Given the description of an element on the screen output the (x, y) to click on. 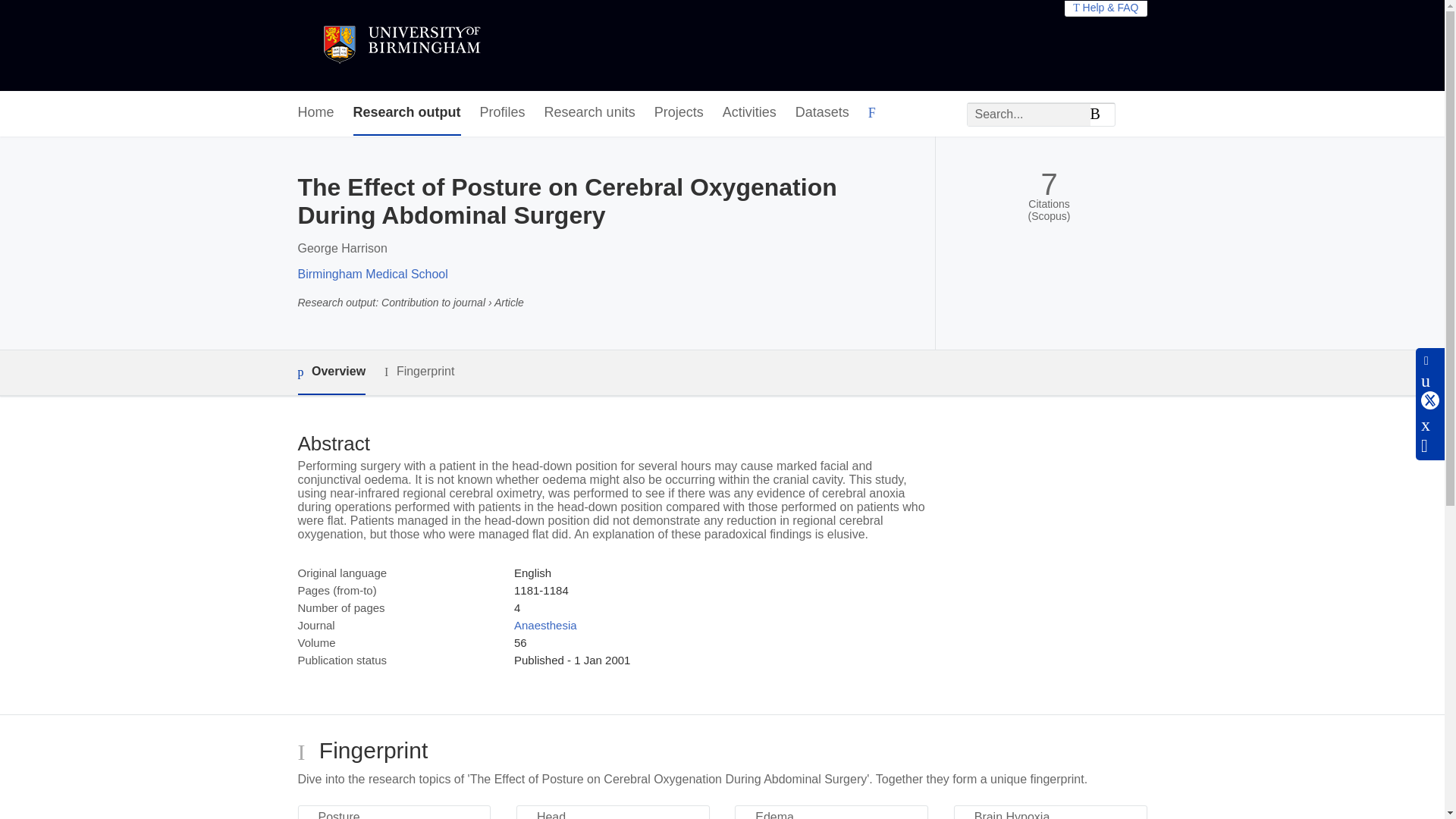
Research output (407, 112)
Overview (331, 372)
Profiles (502, 112)
Projects (678, 112)
University of Birmingham Home (401, 45)
Anaesthesia (544, 625)
Fingerprint (419, 371)
Activities (749, 112)
Datasets (821, 112)
Research units (589, 112)
Birmingham Medical School (371, 273)
